Given the description of an element on the screen output the (x, y) to click on. 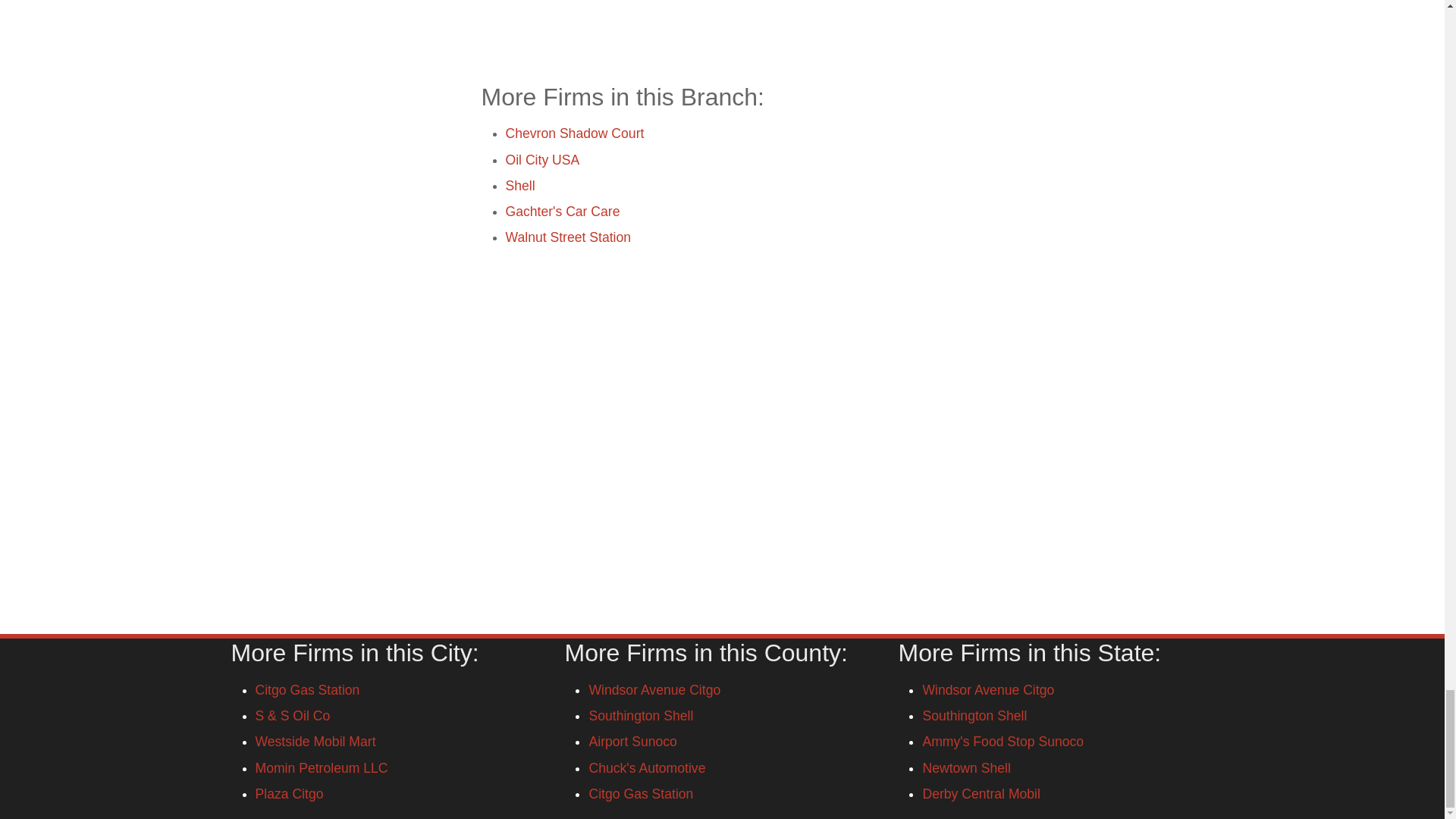
Oil City USA (542, 159)
Gachter's Car Care (562, 211)
Shell (519, 185)
Chevron Shadow Court (574, 133)
Walnut Street Station (567, 237)
